Given the description of an element on the screen output the (x, y) to click on. 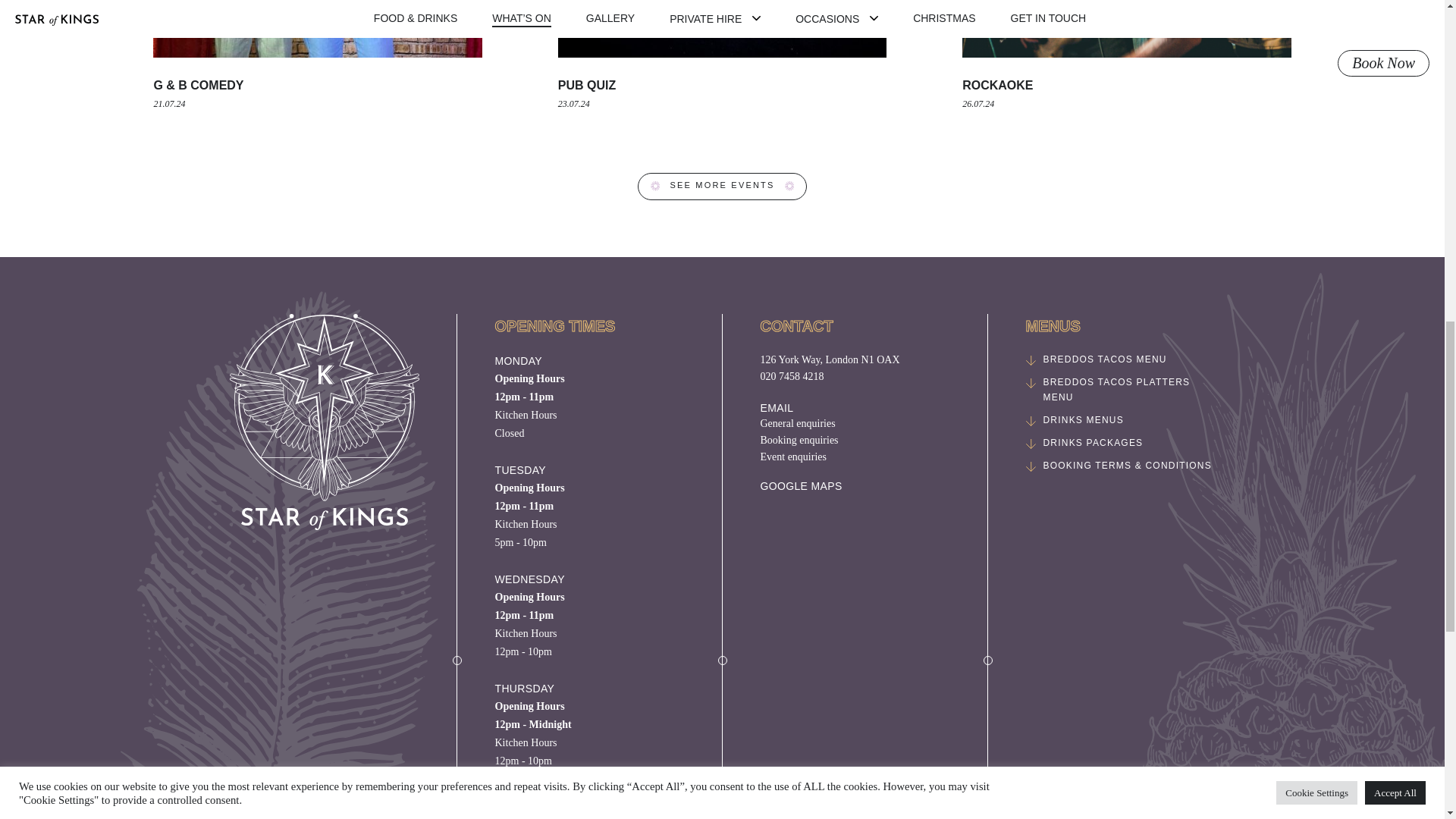
SEE MORE EVENTS (721, 185)
General enquiries (854, 423)
020 7458 4218 (792, 376)
Event enquiries (854, 457)
Booking enquiries (854, 440)
BREDDOS TACOS PLATTERS MENU (1119, 389)
DRINKS MENUS (1119, 419)
DRINKS PACKAGES (1119, 442)
BREDDOS TACOS MENU (1119, 359)
GOOGLE MAPS (800, 485)
